Given the description of an element on the screen output the (x, y) to click on. 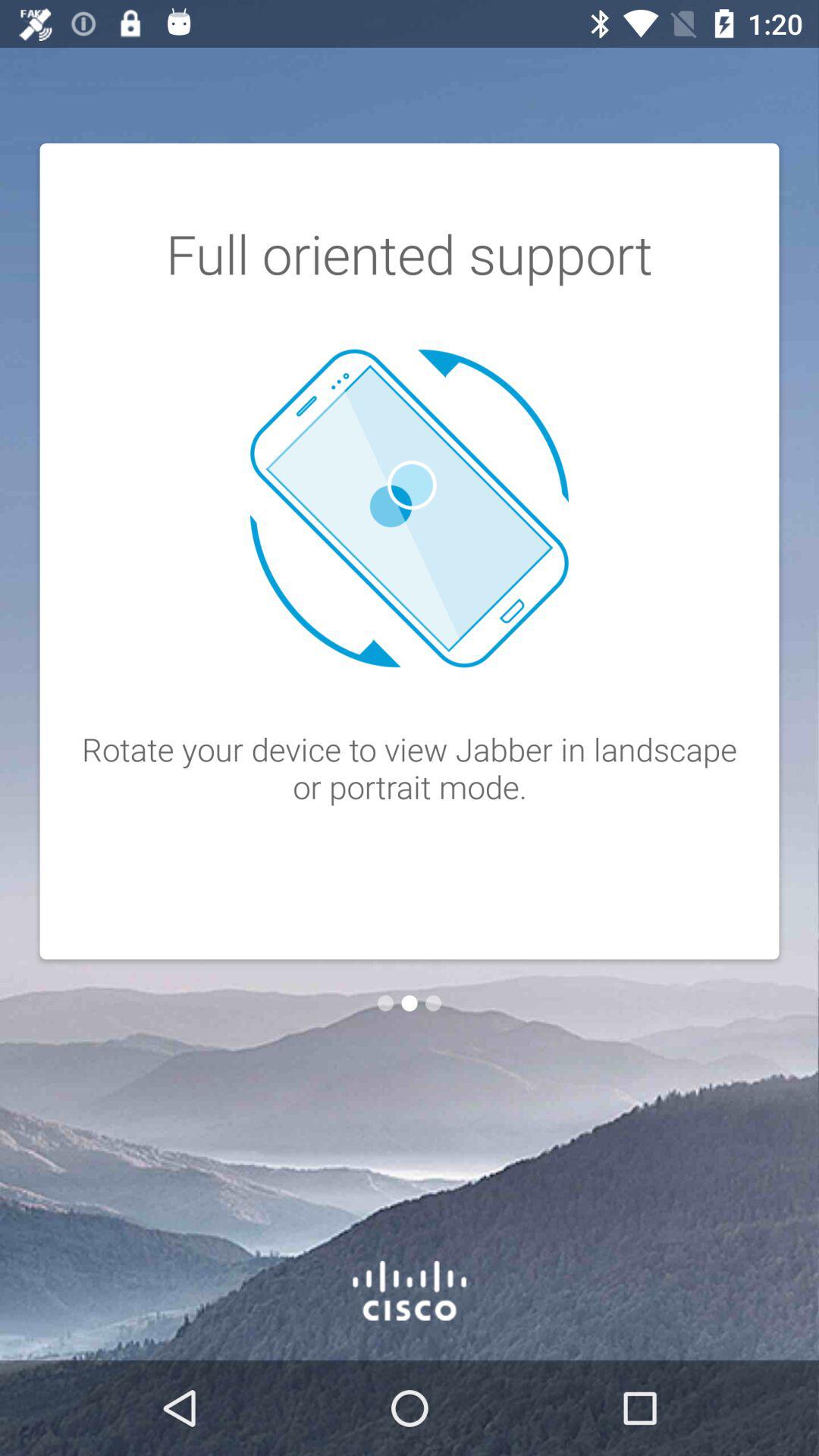
go to previous step (385, 1003)
